Given the description of an element on the screen output the (x, y) to click on. 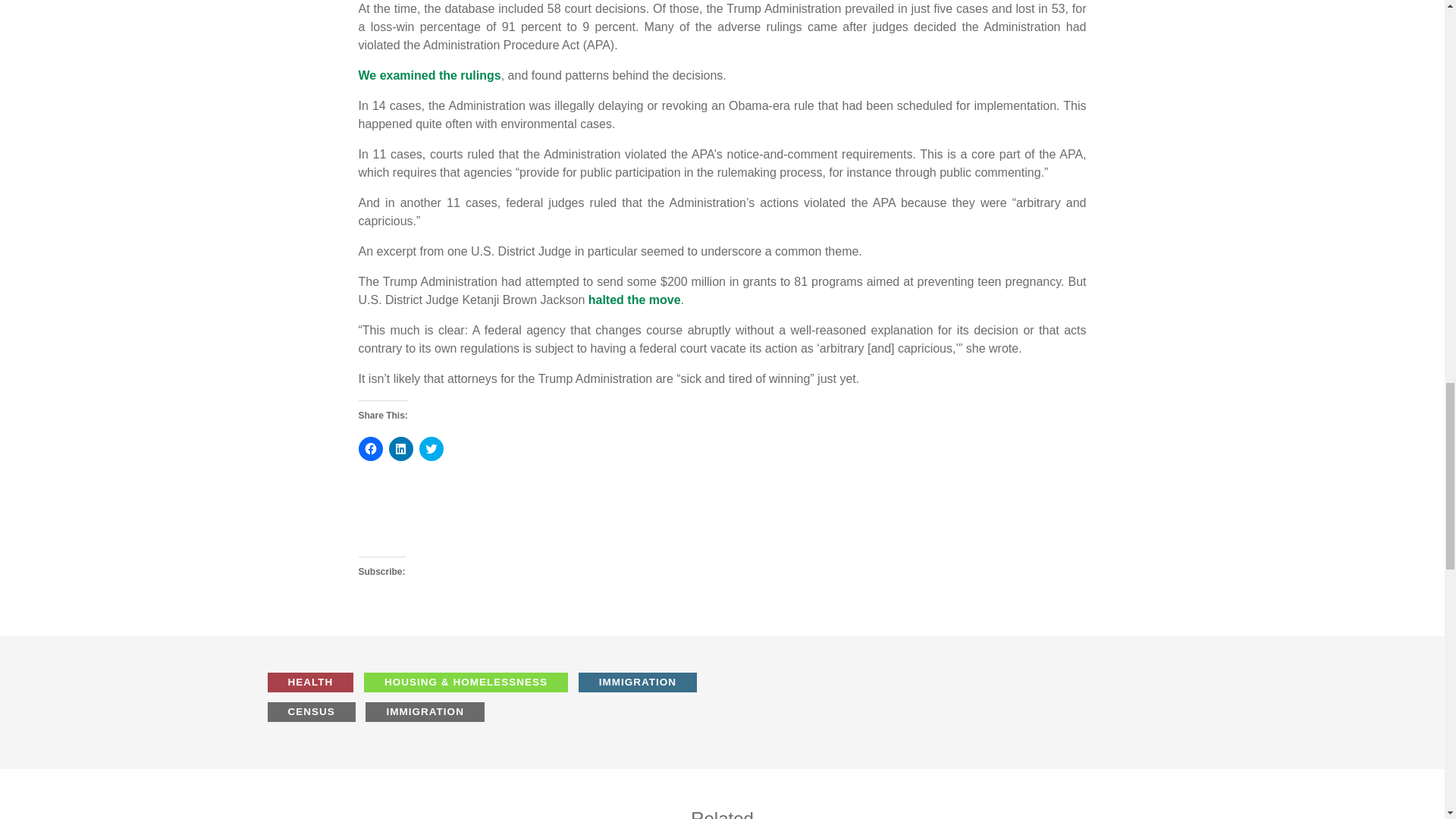
halted the move (634, 299)
Click to share on Twitter (430, 448)
Click to share on LinkedIn (400, 448)
HEALTH (314, 686)
IMMIGRATION (642, 686)
Click to share on Facebook (369, 448)
We examined the rulings (429, 74)
